Given the description of an element on the screen output the (x, y) to click on. 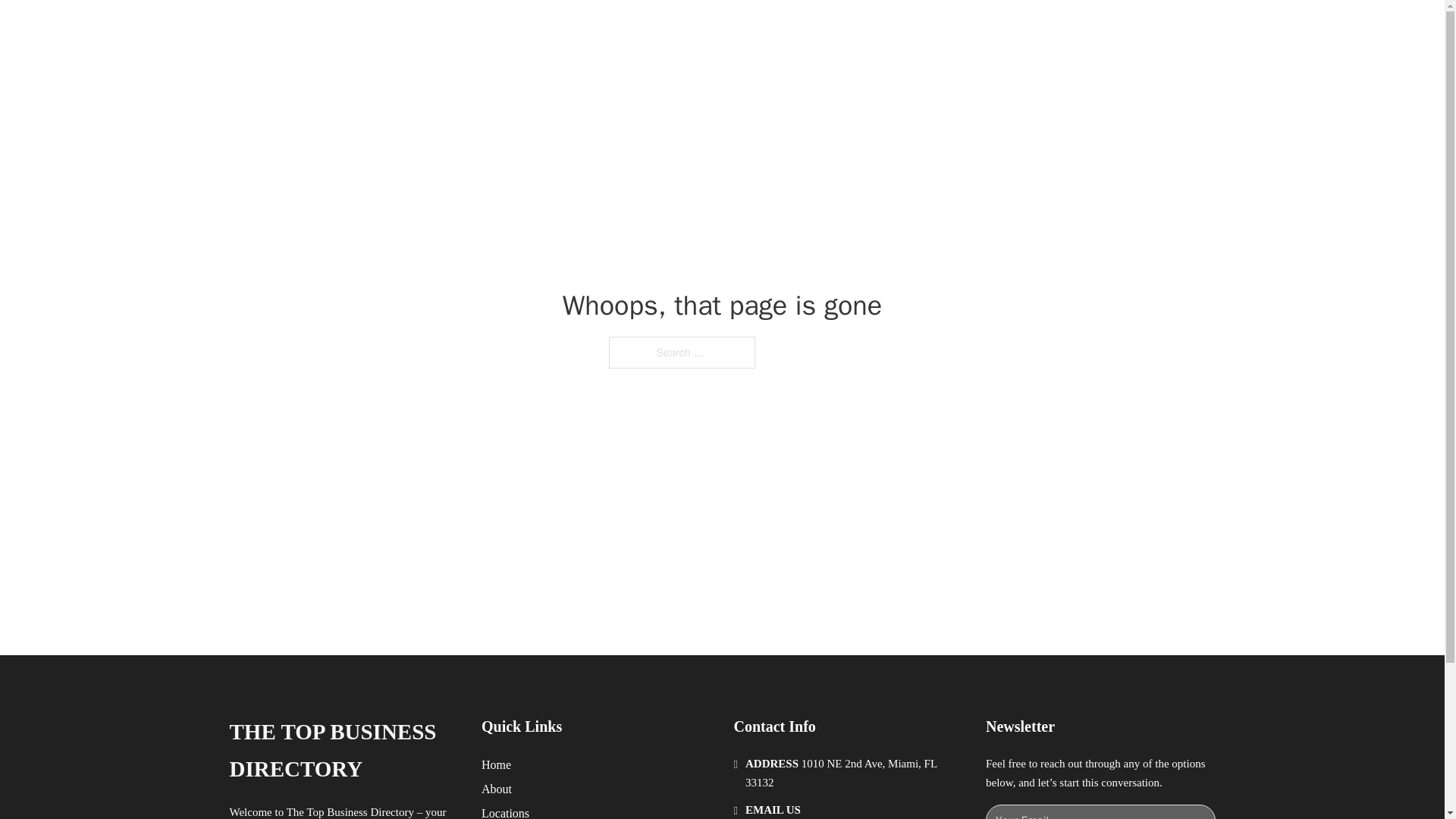
Home (496, 764)
HOME (919, 29)
About (496, 788)
Locations (505, 811)
LOCATIONS (990, 29)
THE TOP BUSINESS DIRECTORY (463, 28)
THE TOP BUSINESS DIRECTORY (343, 750)
